Given the description of an element on the screen output the (x, y) to click on. 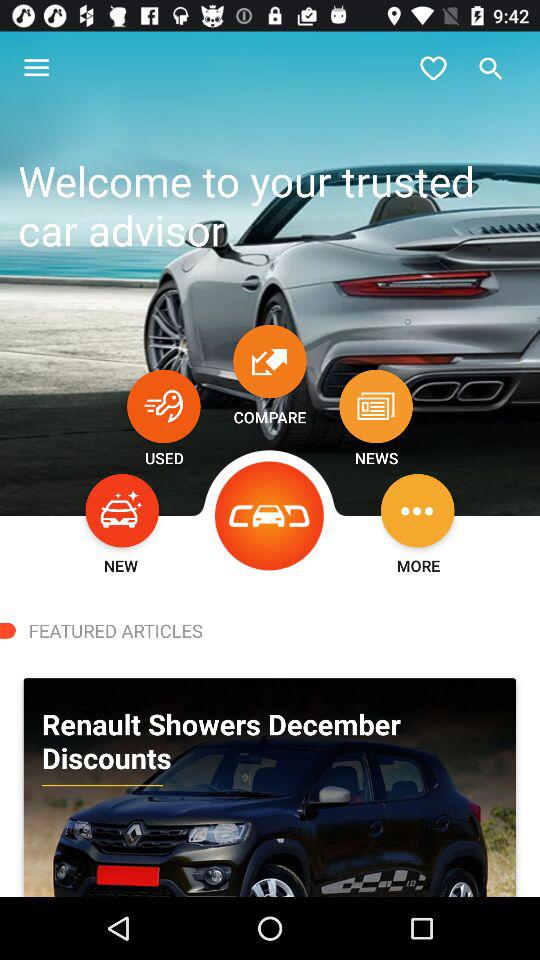
click icon below welcome to your item (163, 406)
